Given the description of an element on the screen output the (x, y) to click on. 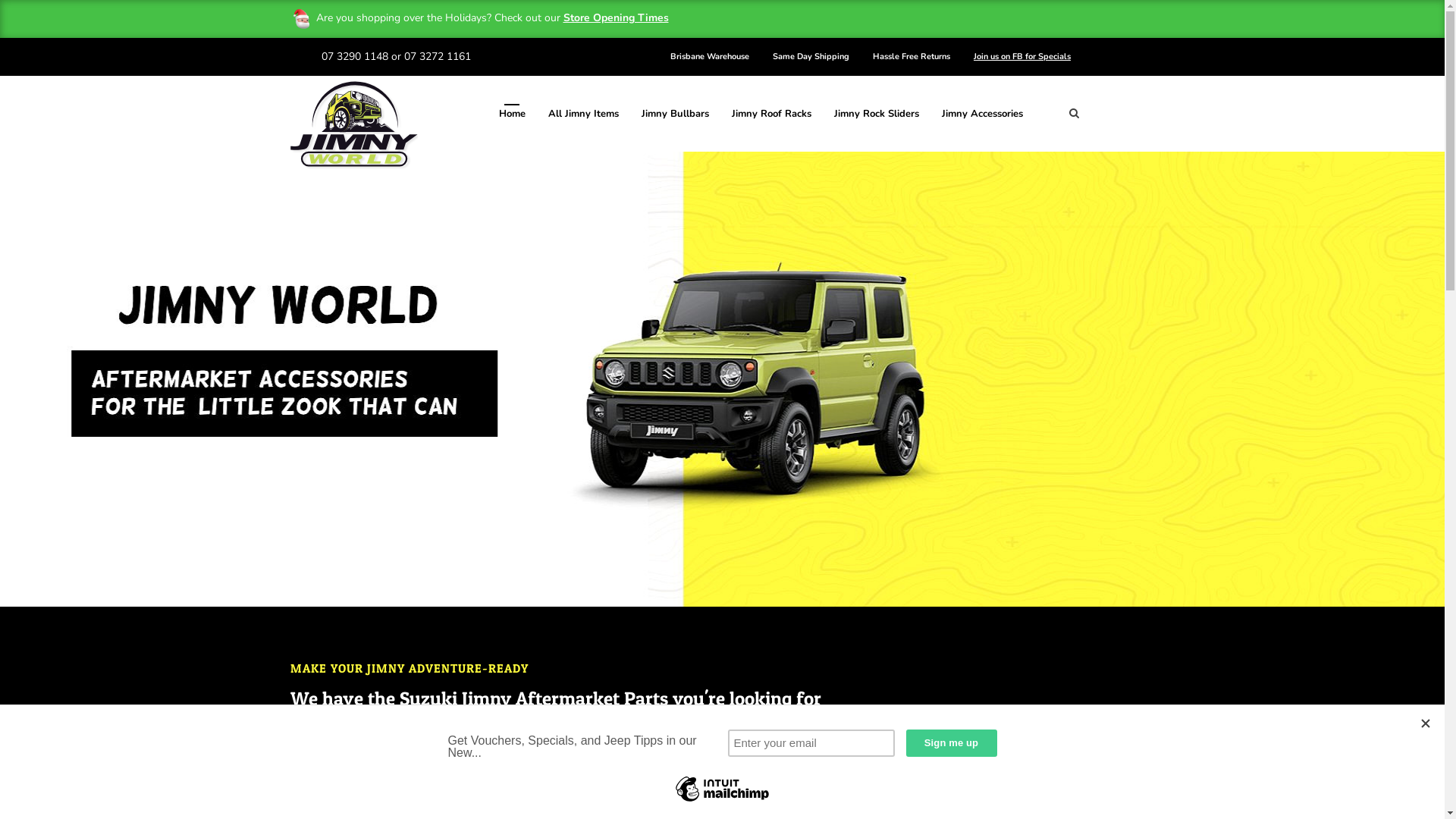
Jimny Shop Element type: text (1091, 748)
Jimny Bullbars Element type: text (675, 113)
07 3290 1148 or 07 3272 1161 Element type: text (394, 56)
Jimny Accessories Element type: text (981, 113)
Join us on FB for Specials Element type: text (1021, 57)
sales@jimnyworld.com.au Element type: text (385, 94)
Hassle Free Returns Element type: text (911, 57)
Home Element type: text (511, 113)
Store Opening Times Element type: text (615, 17)
Jimny Roof Racks Element type: text (770, 113)
All Jimny Items Element type: text (582, 113)
Jimny Rock Sliders Element type: text (876, 113)
Brisbane Warehouse Element type: text (709, 57)
